Given the description of an element on the screen output the (x, y) to click on. 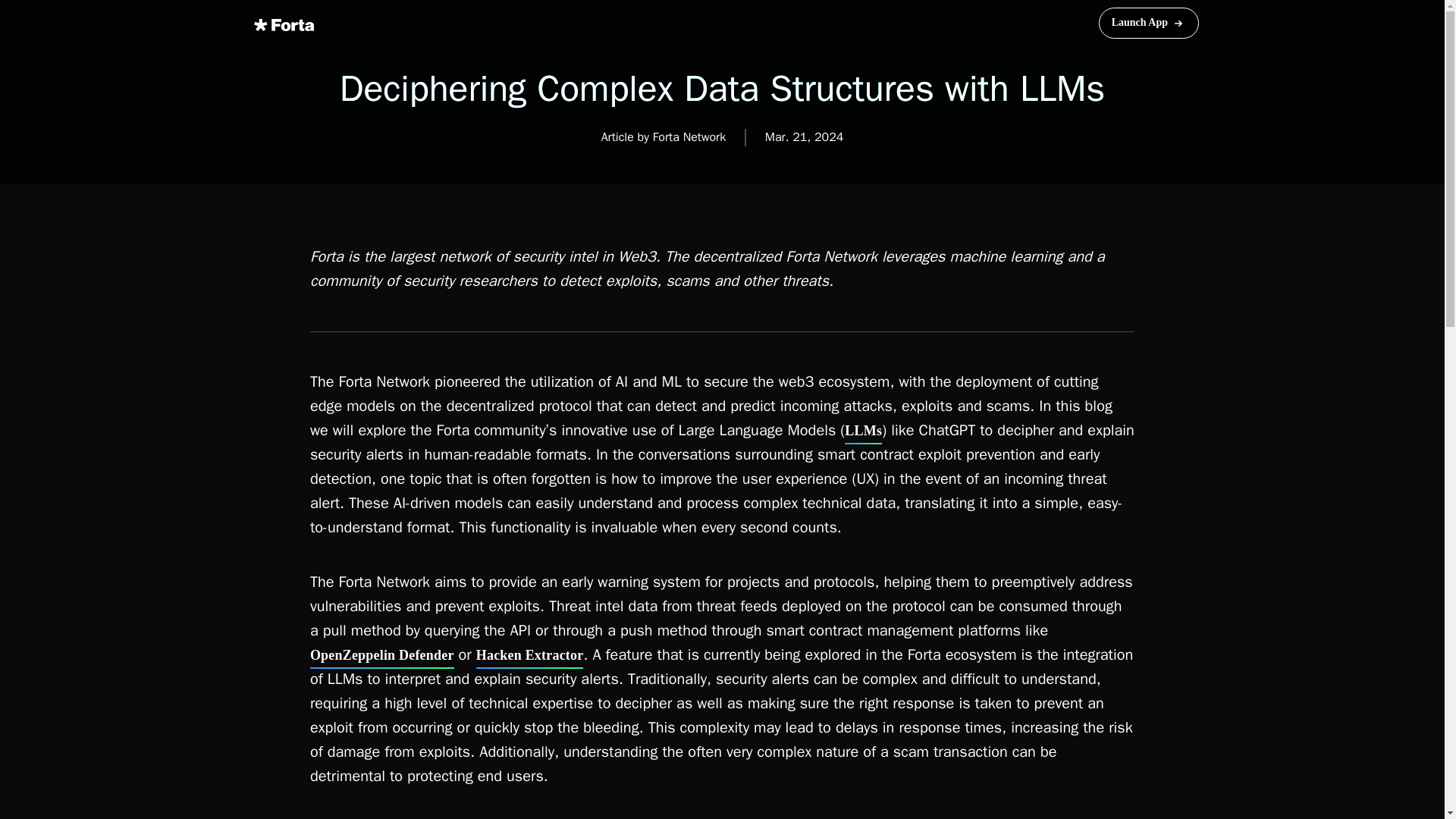
Community (1031, 22)
OpenZeppelin Defender (382, 654)
Blog (1081, 22)
Hacken Extractor (529, 654)
Build on Forta (959, 22)
Use Forta (891, 22)
LLMs (863, 430)
Launch App (1148, 22)
